Given the description of an element on the screen output the (x, y) to click on. 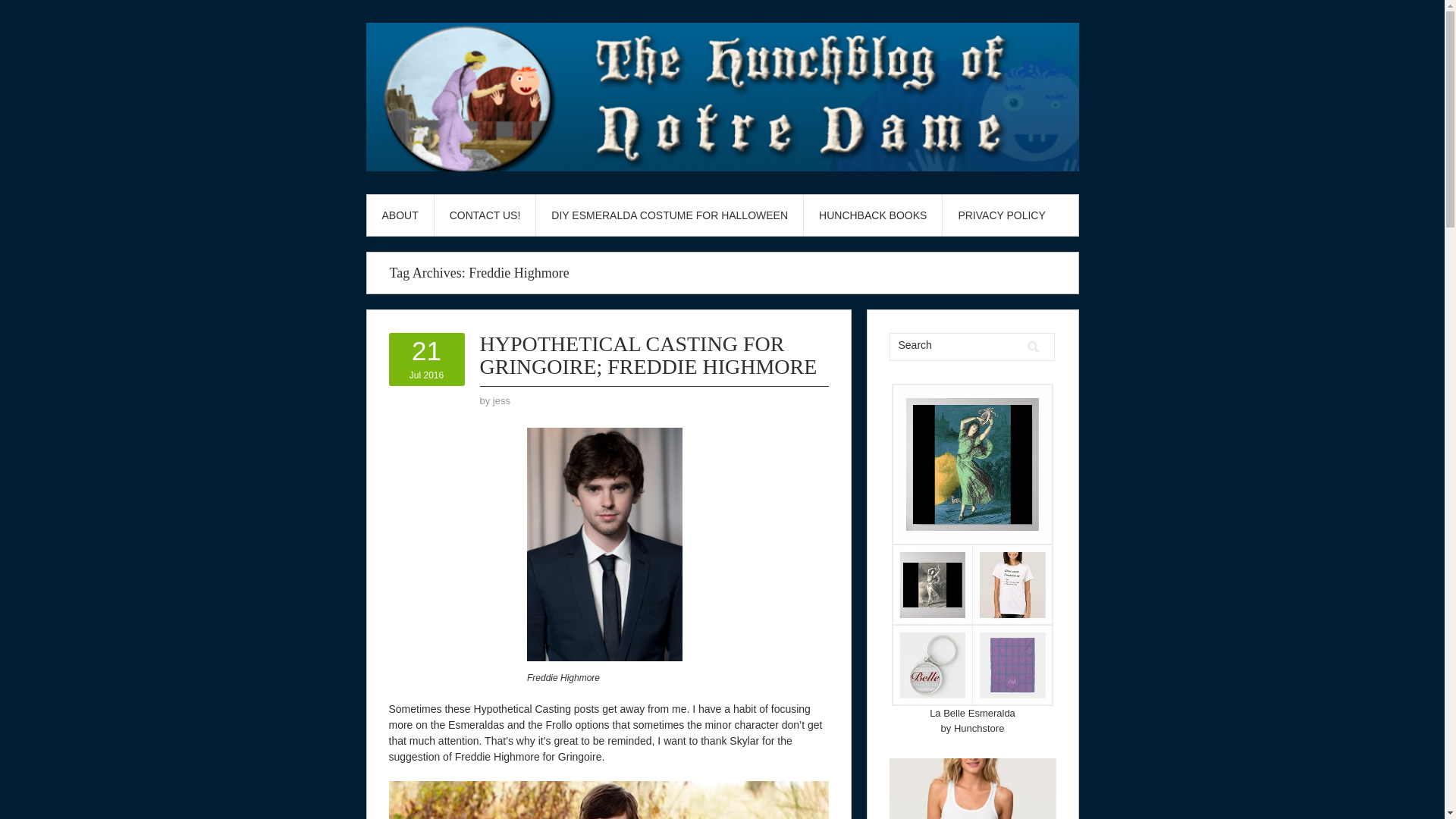
Search (954, 344)
Hunchstore (978, 727)
by jess (502, 400)
DIY ESMERALDA COSTUME FOR HALLOWEEN (669, 214)
HYPOTHETICAL CASTING FOR GRINGOIRE; FREDDIE HIGHMORE (647, 355)
HUNCHBACK BOOKS (872, 214)
Search (1032, 346)
PRIVACY POLICY (1000, 214)
jess (502, 400)
